Given the description of an element on the screen output the (x, y) to click on. 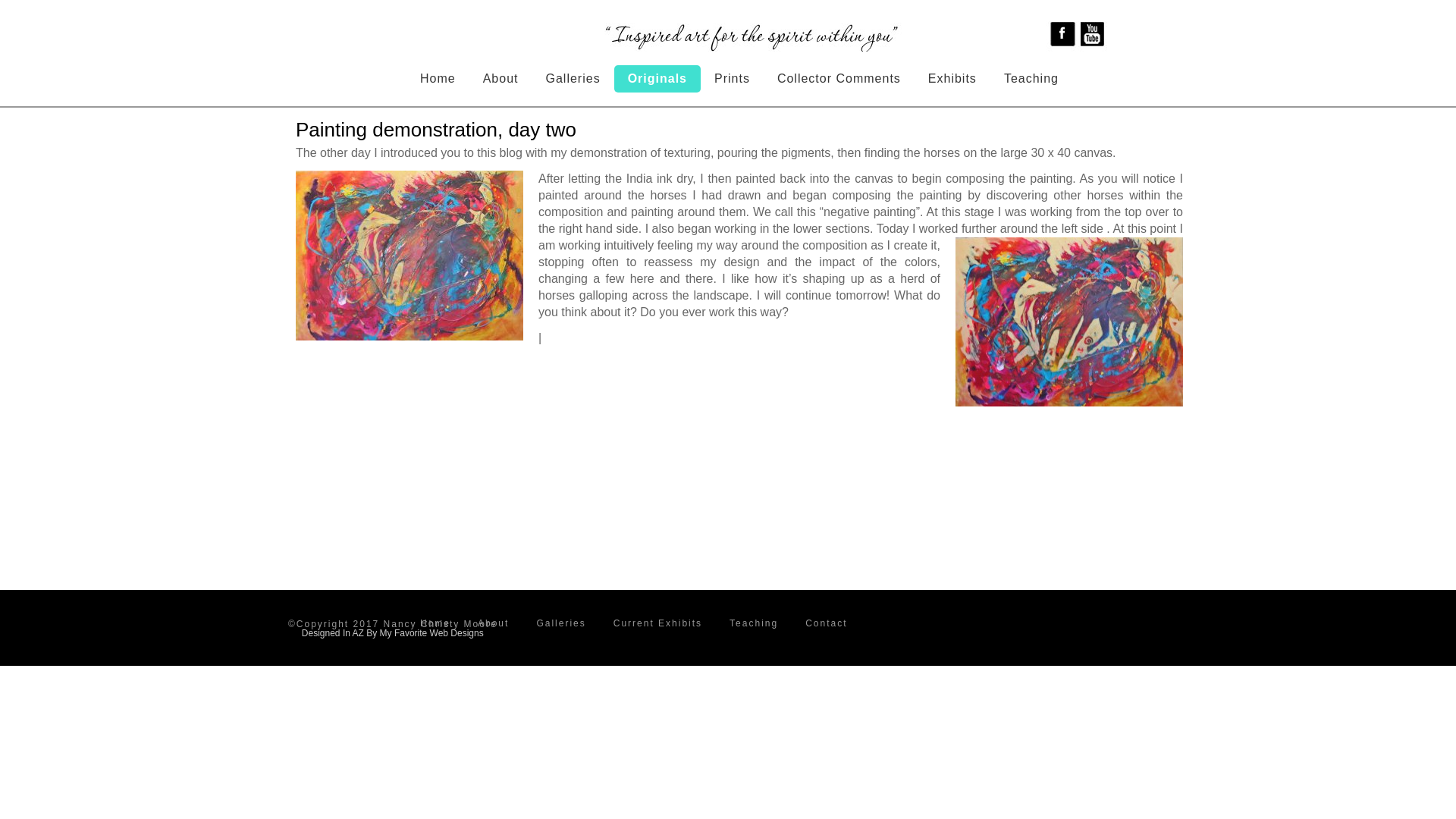
Website Designed In AZ By My Favorite Web Designs (392, 633)
About (500, 78)
Originals (657, 78)
Collector Comments (839, 78)
About (492, 623)
Current Exhibits (656, 623)
Galleries (572, 78)
Teaching (1031, 78)
Designed In AZ By My Favorite Web Designs (392, 633)
Galleries (560, 623)
Contact (826, 623)
Prints (731, 78)
Exhibits (952, 78)
Teaching (753, 623)
Home (437, 78)
